Given the description of an element on the screen output the (x, y) to click on. 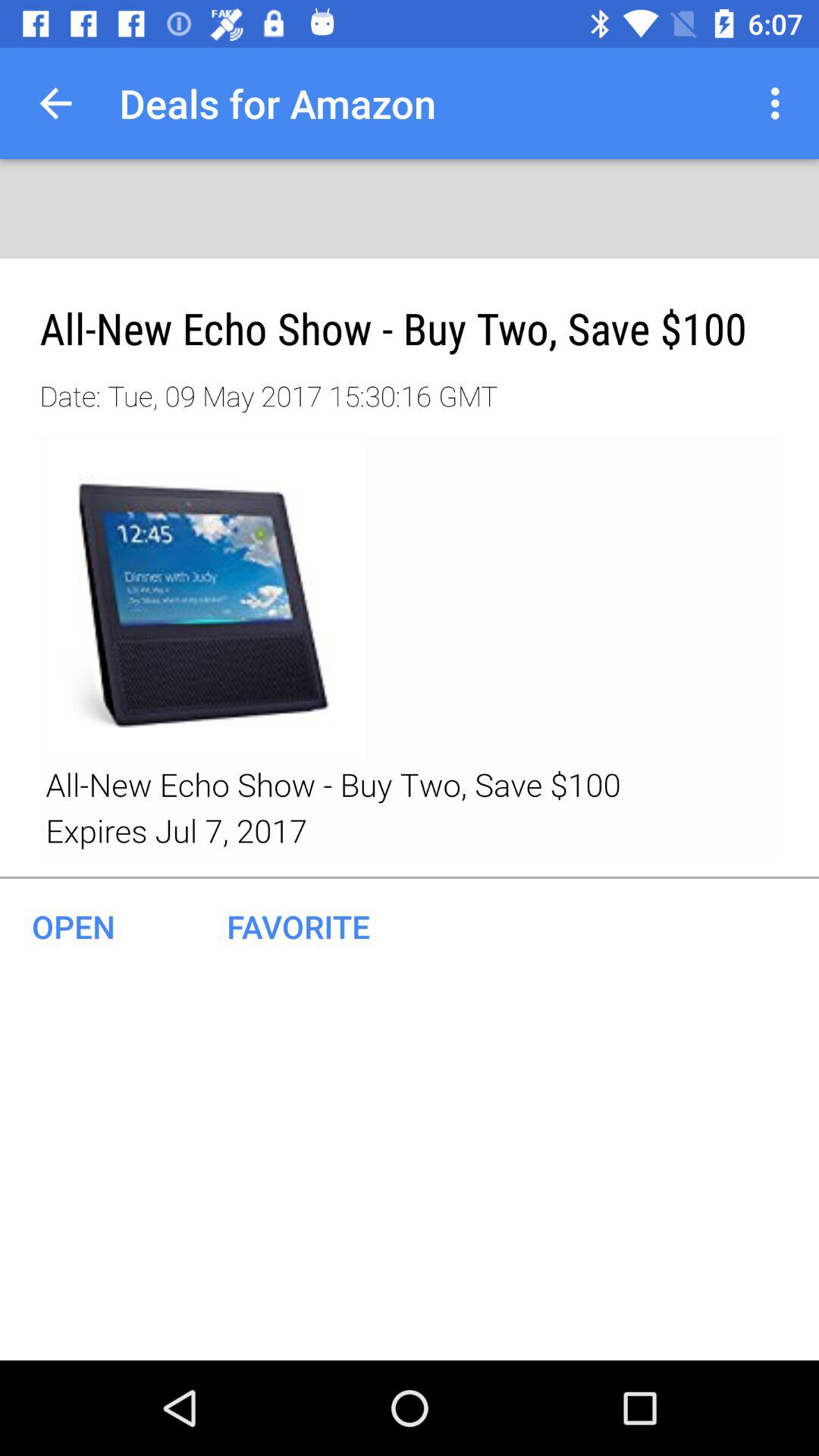
advertisement (409, 645)
